Given the description of an element on the screen output the (x, y) to click on. 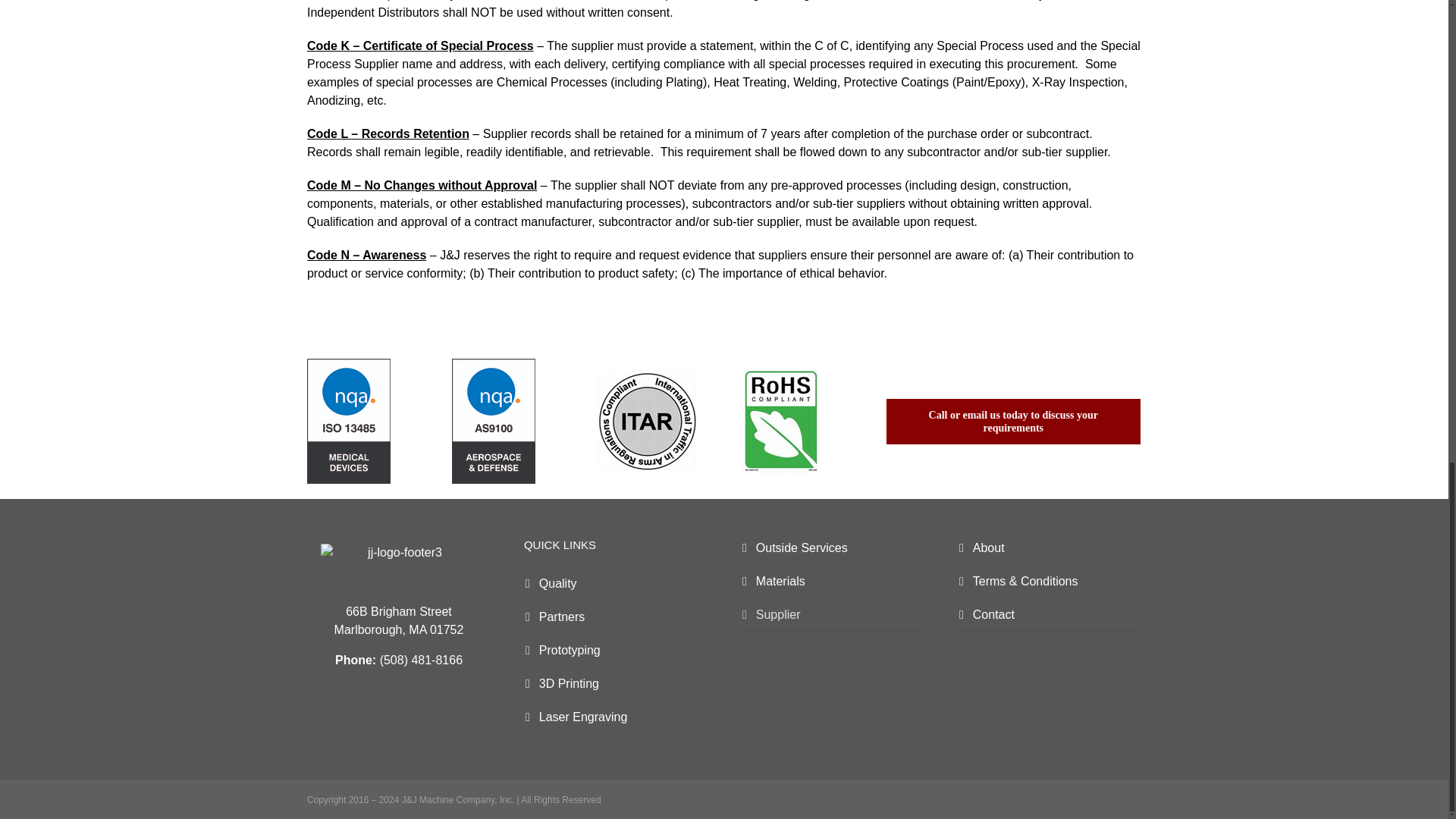
About (1049, 548)
Laser Engraving (615, 717)
Quality (615, 583)
3D Printing (615, 684)
Call or email us today to discuss your requirements (1013, 421)
Outside Services (832, 548)
Materials (832, 581)
Supplier (832, 614)
itarc (646, 421)
Prototyping (615, 650)
Partners (615, 616)
Contact (1049, 614)
